Given the description of an element on the screen output the (x, y) to click on. 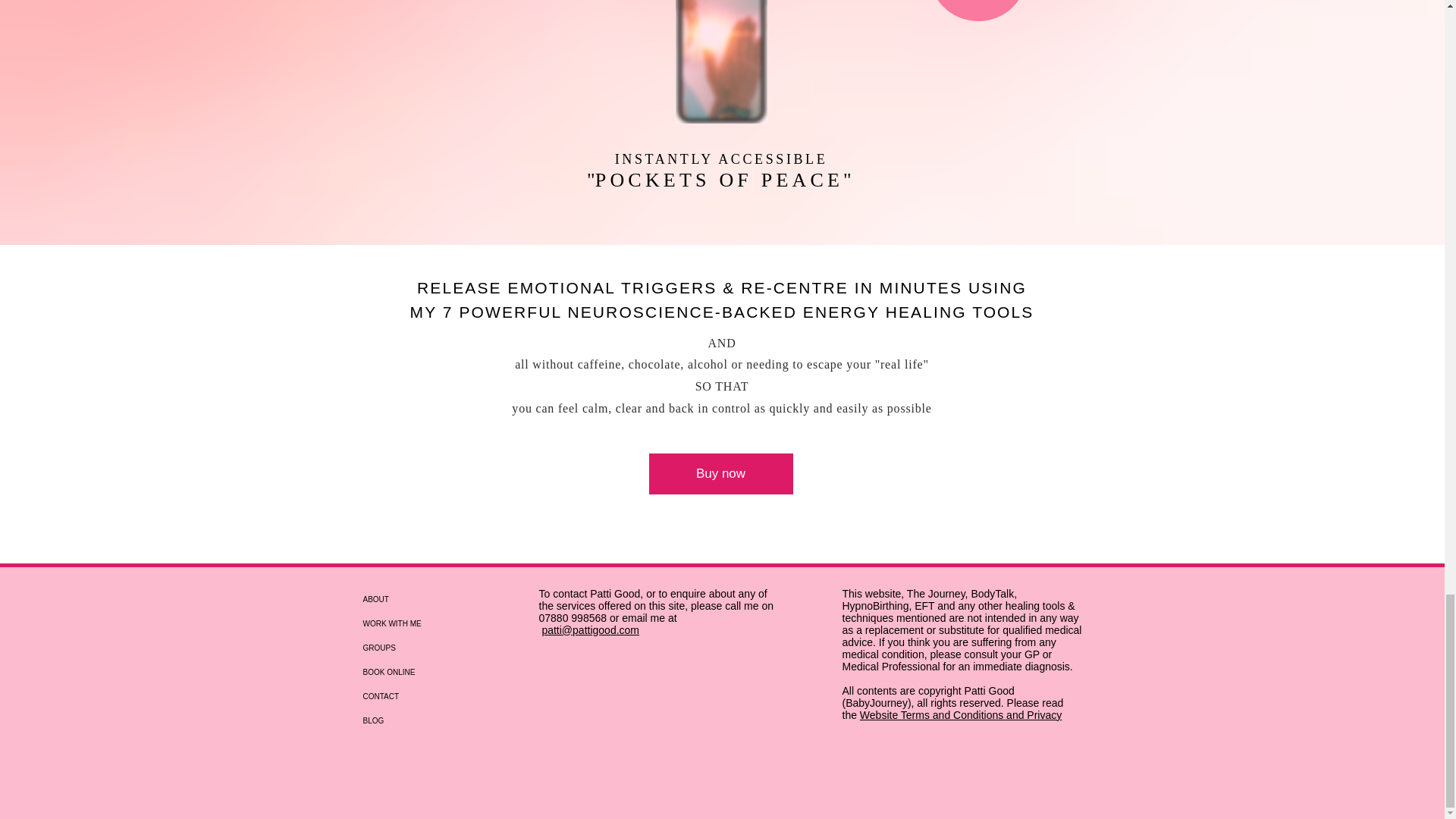
ABOUT (461, 599)
Buy now (721, 473)
BOOK ONLINE (461, 672)
WORK WITH ME (461, 623)
GROUPS (461, 648)
